Given the description of an element on the screen output the (x, y) to click on. 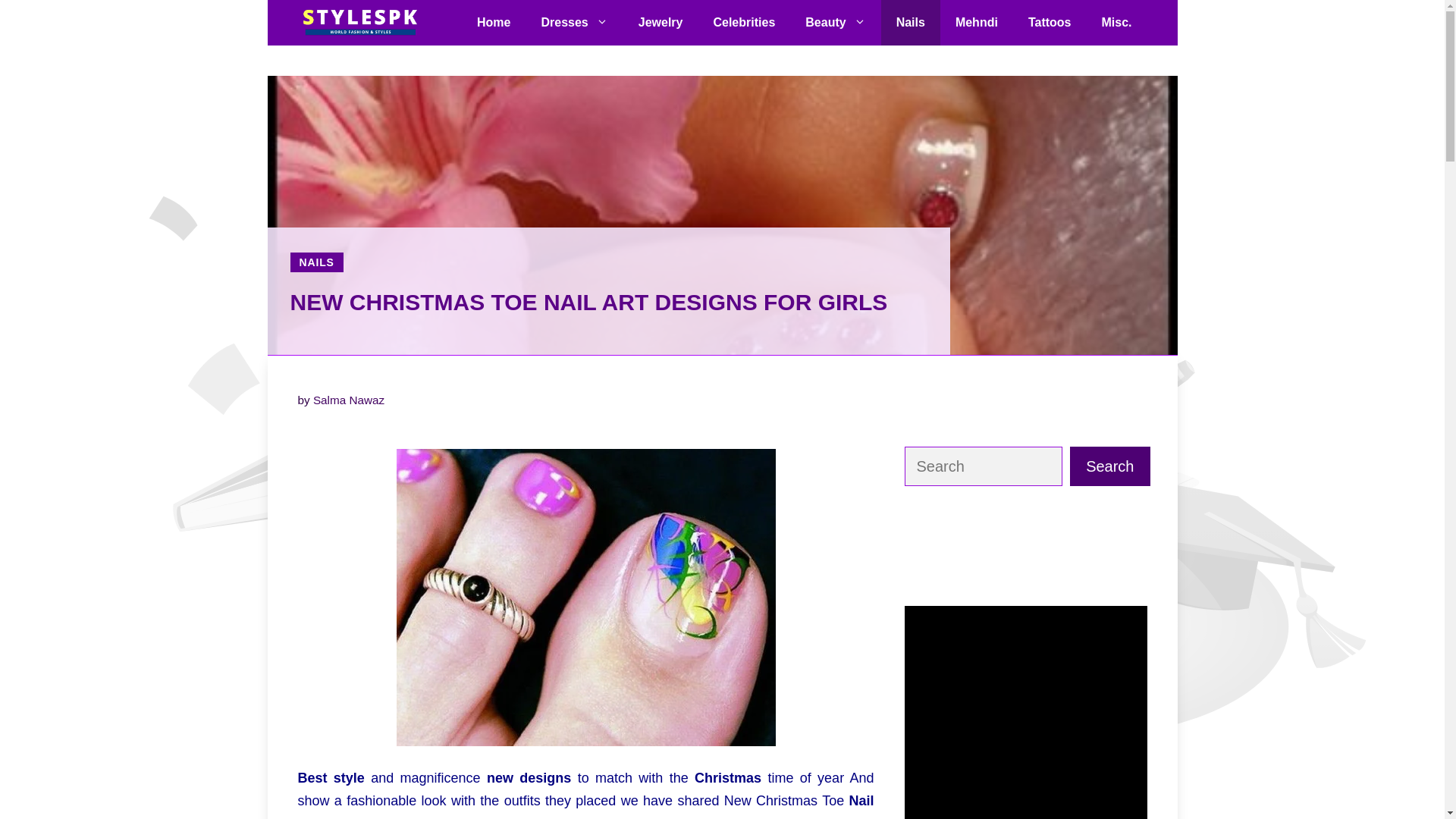
Nails (910, 22)
Dresses (574, 22)
Salma Nawaz (348, 399)
Jewelry (660, 22)
Tattoos (1049, 22)
Misc. (1116, 22)
NAILS (315, 262)
Styles PK (358, 22)
Mehndi (976, 22)
Beauty (835, 22)
Home (493, 22)
View all posts by Salma Nawaz (348, 399)
Celebrities (743, 22)
